Given the description of an element on the screen output the (x, y) to click on. 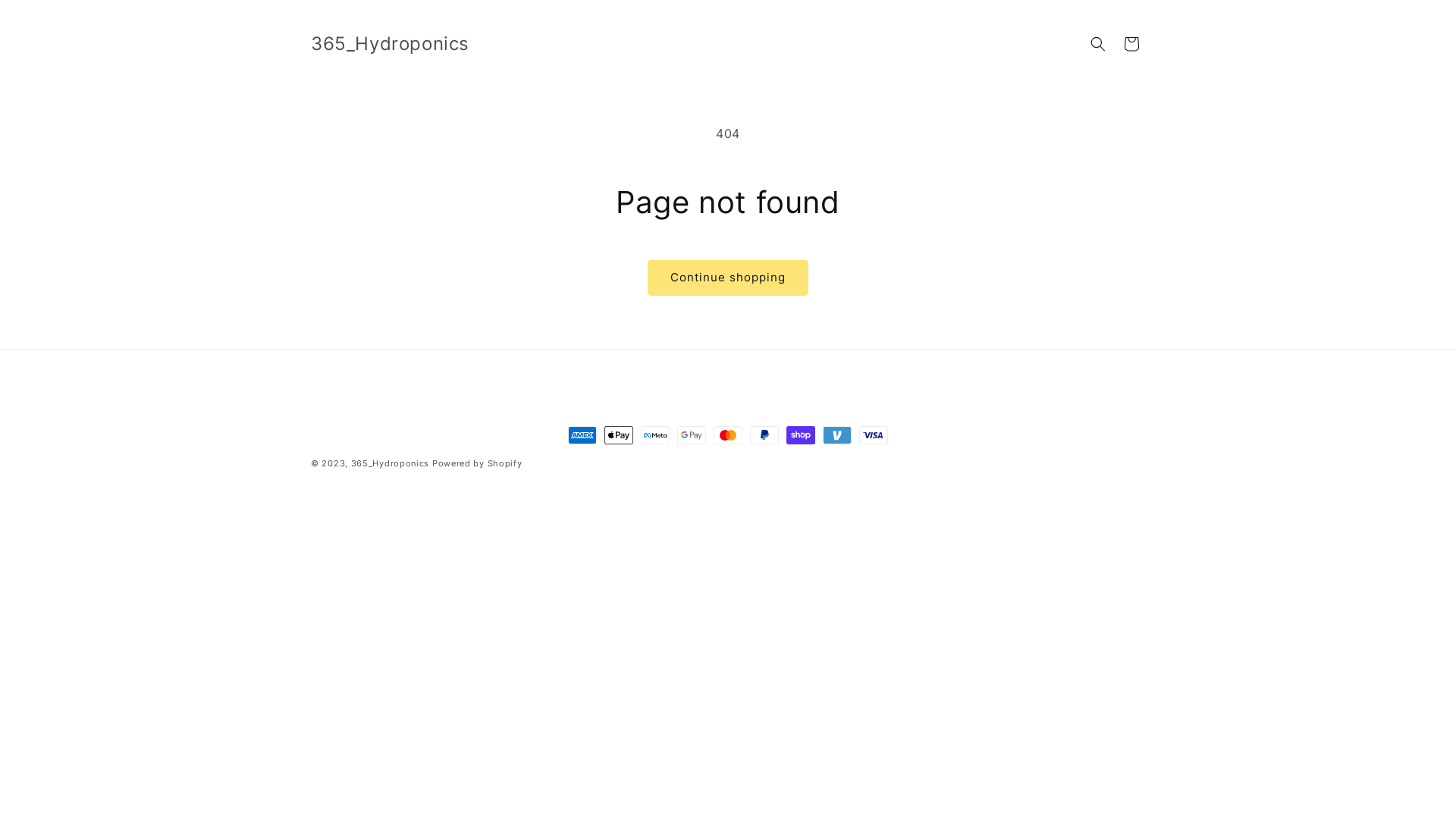
Continue shopping Element type: text (727, 277)
365_Hydroponics Element type: text (390, 463)
365_Hydroponics Element type: text (389, 43)
Cart Element type: text (1131, 43)
Powered by Shopify Element type: text (477, 463)
